Given the description of an element on the screen output the (x, y) to click on. 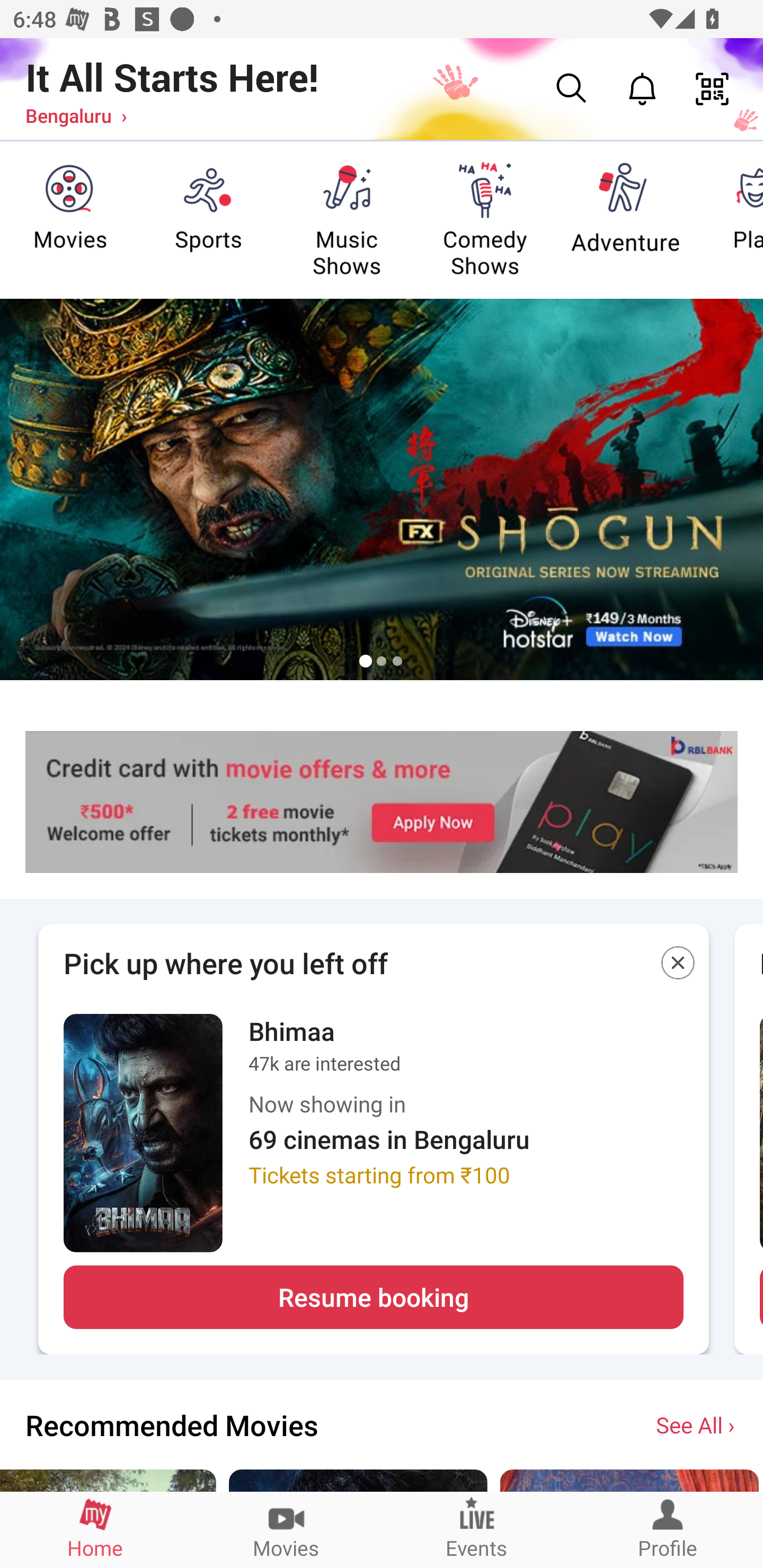
Bengaluru  › (76, 114)
  (678, 966)
Resume booking (373, 1297)
See All › (696, 1424)
Home (95, 1529)
Movies (285, 1529)
Events (476, 1529)
Profile (667, 1529)
